Given the description of an element on the screen output the (x, y) to click on. 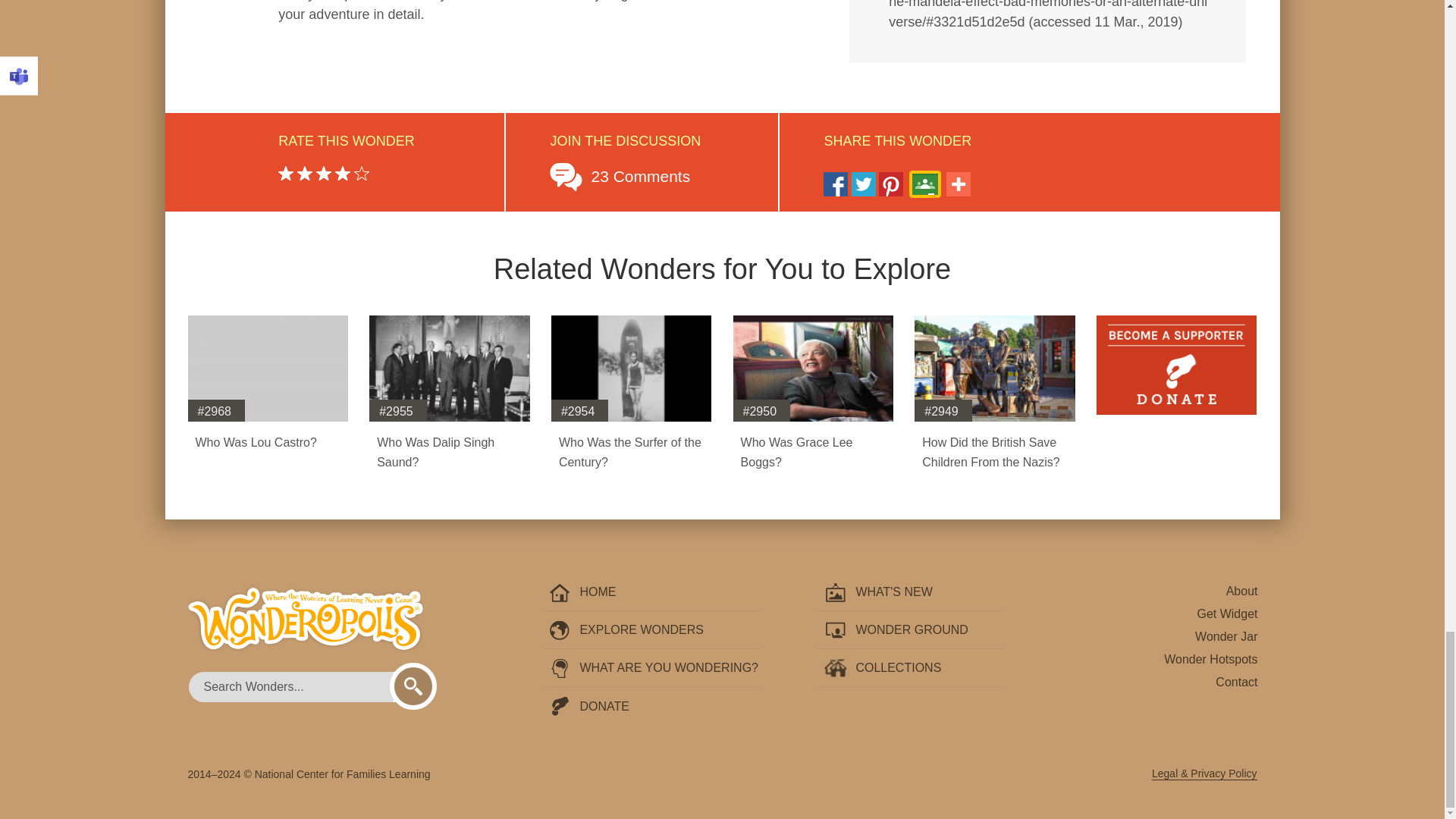
submit (413, 686)
